Given the description of an element on the screen output the (x, y) to click on. 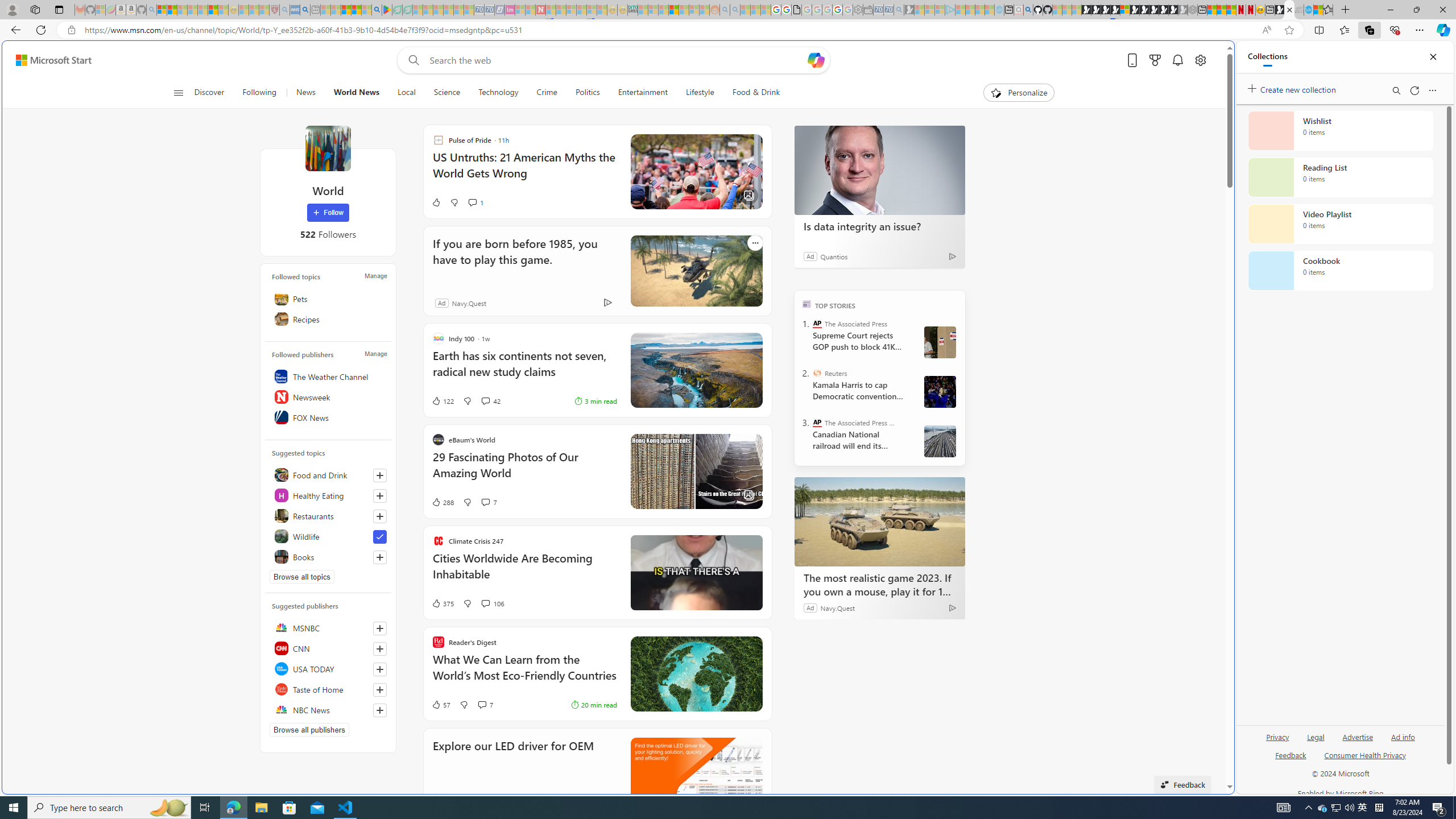
View comments 42 Comment (485, 400)
US Untruths: 21 American Myths the World Gets Wrong (524, 171)
Class: hero-image (696, 572)
TOP (806, 302)
Tabs you've opened (885, 151)
Reuters (816, 372)
288 Like (442, 502)
